Given the description of an element on the screen output the (x, y) to click on. 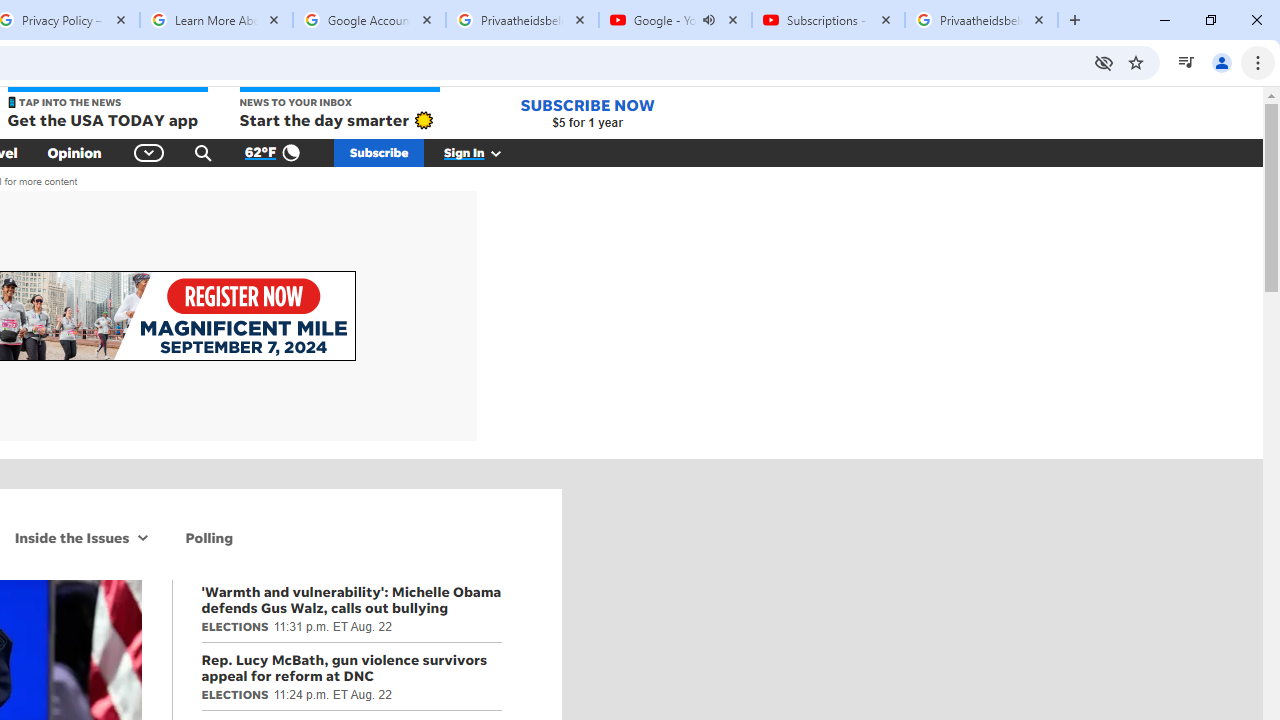
Inside the Issues (68, 537)
Subscribe (379, 152)
Sign In (483, 152)
Mute tab (708, 20)
Subscriptions - YouTube (827, 20)
Global Navigation (149, 152)
